Given the description of an element on the screen output the (x, y) to click on. 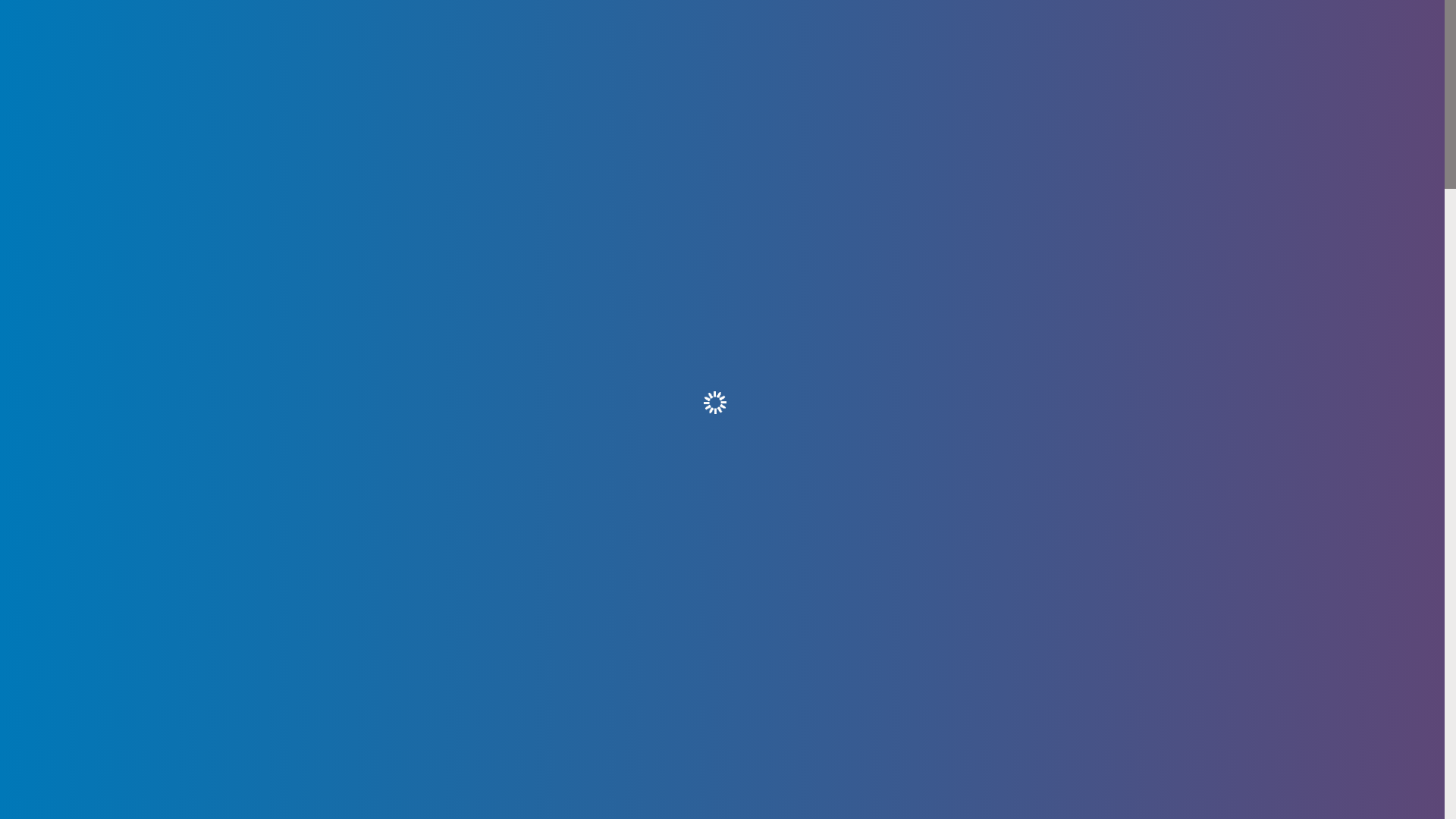
Support (704, 24)
Login (1111, 28)
Courses (472, 25)
Newer article (1089, 693)
Paul Janssen Futurelab Leiden (334, 43)
Logo futurelab (334, 44)
Previous article (363, 693)
Logo futurelab (334, 44)
Who we are (626, 25)
Resources (540, 25)
